Given the description of an element on the screen output the (x, y) to click on. 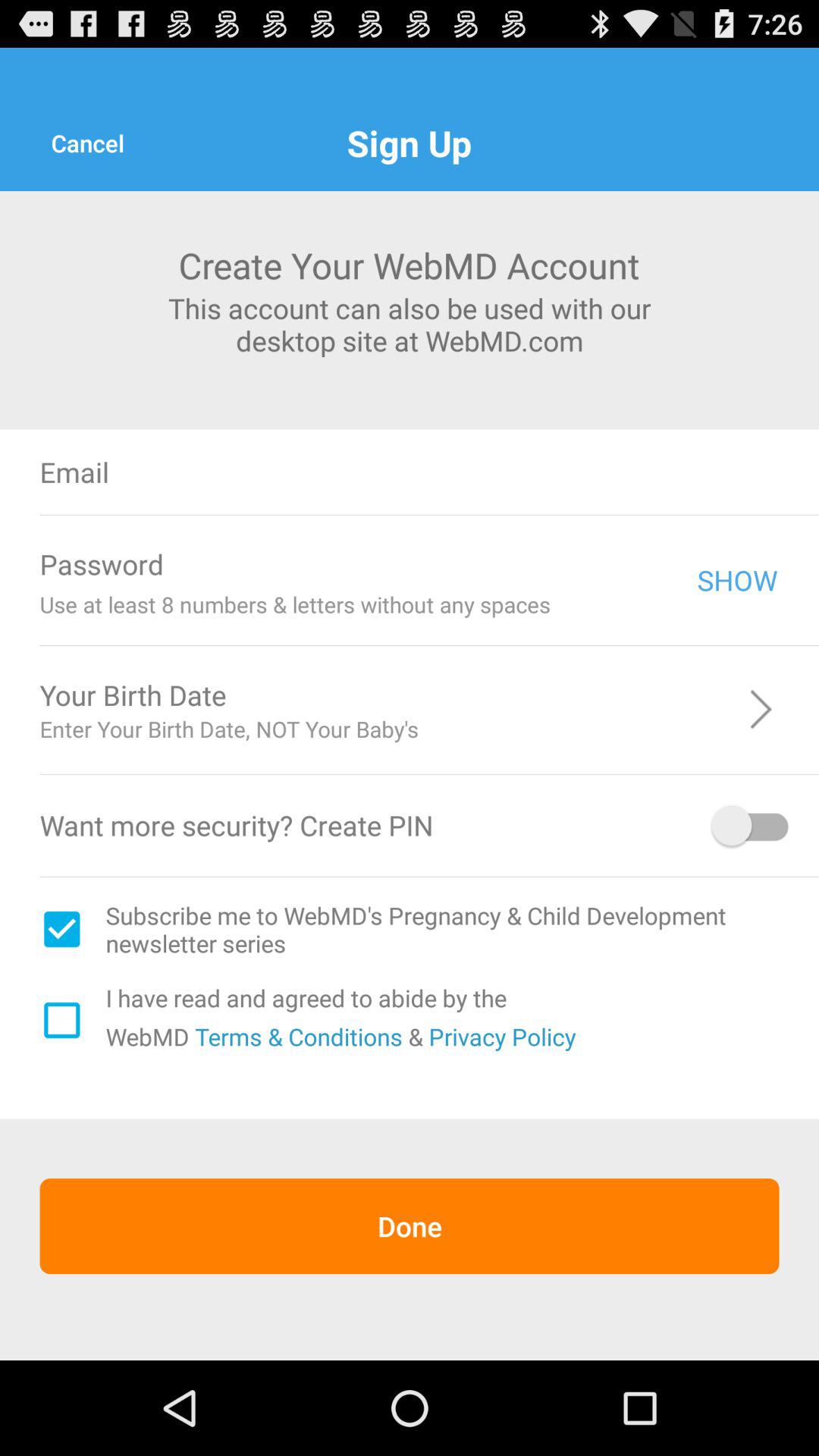
subscribe (61, 929)
